Given the description of an element on the screen output the (x, y) to click on. 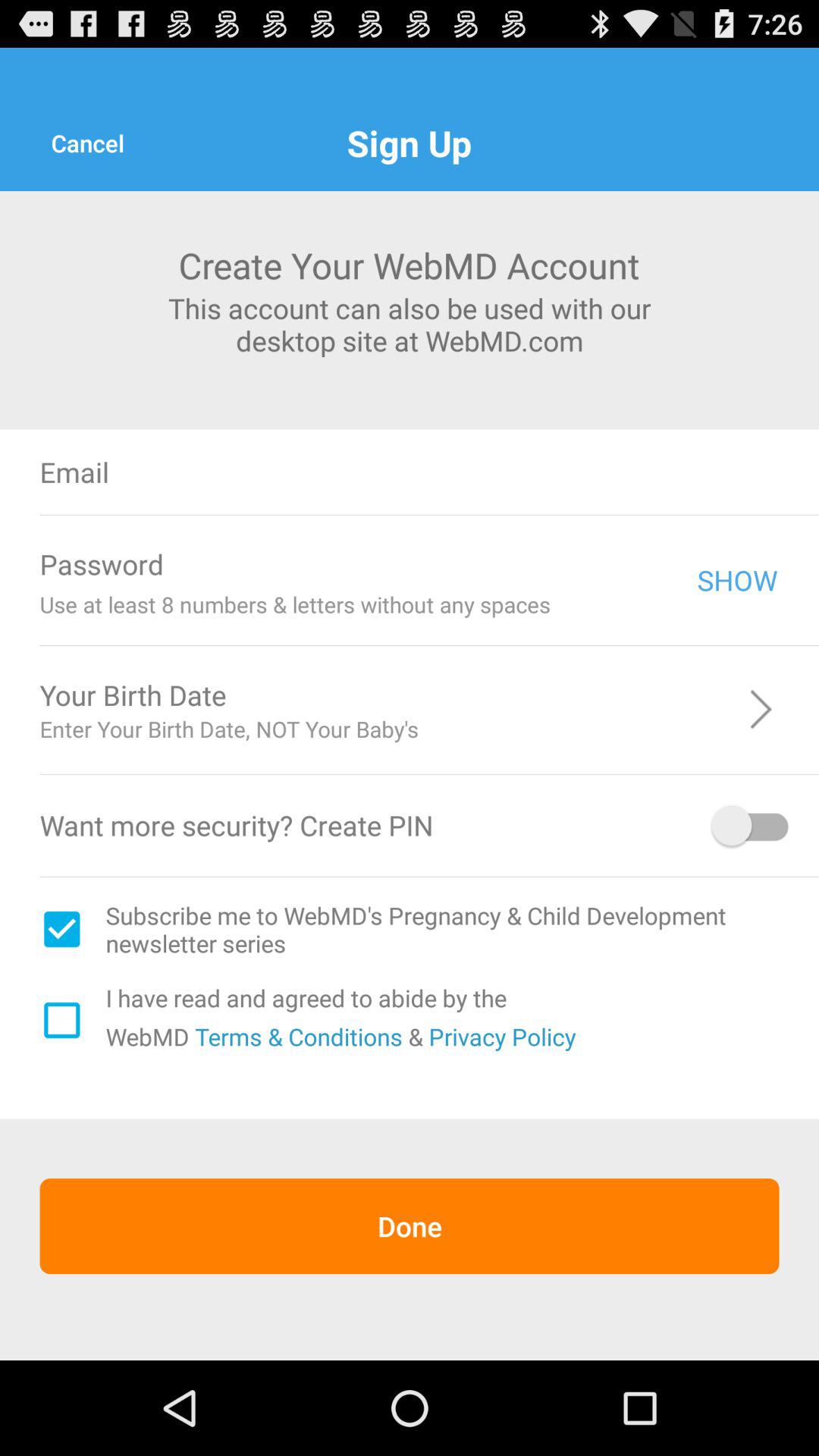
subscribe (61, 929)
